Given the description of an element on the screen output the (x, y) to click on. 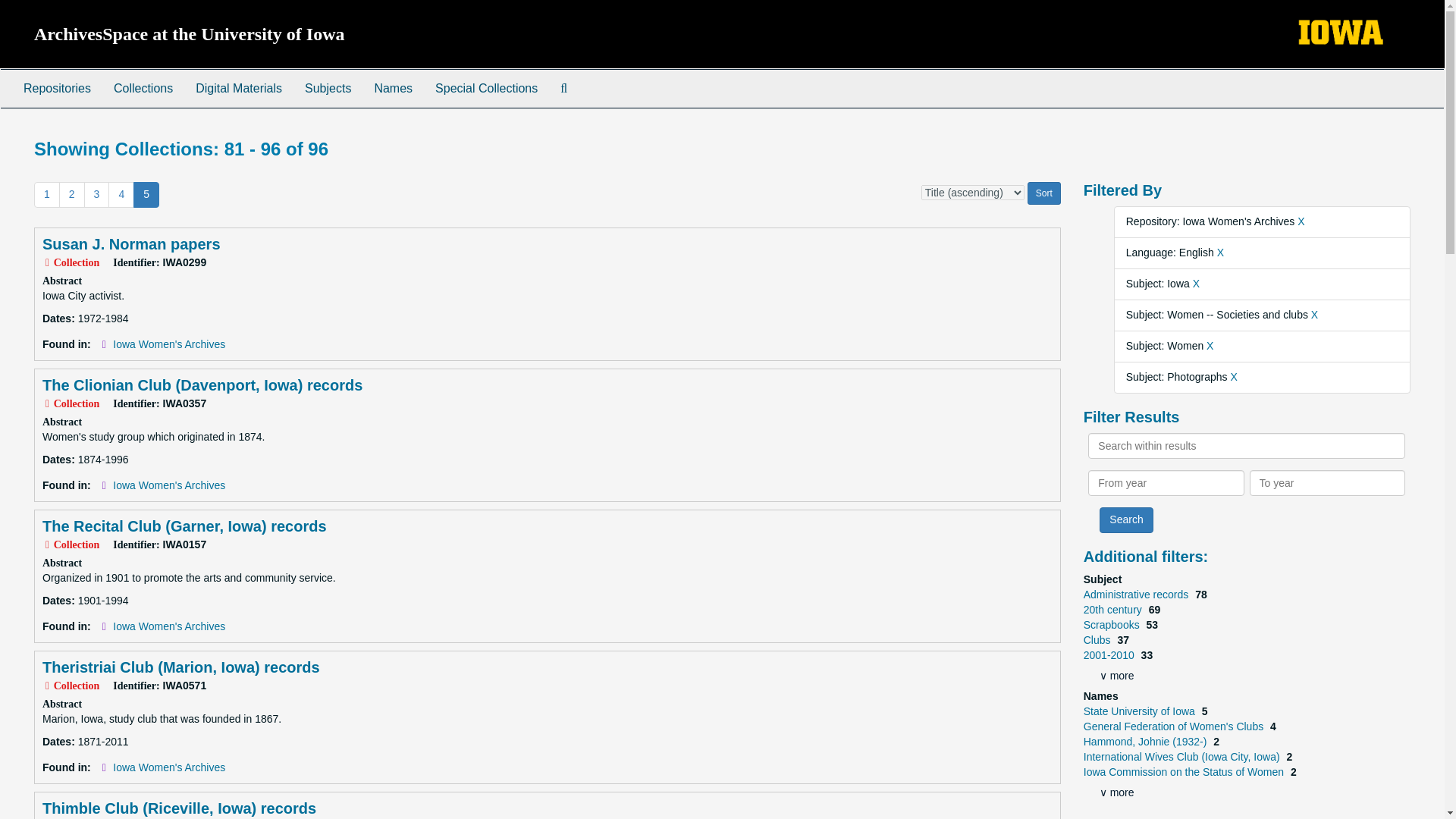
3 (97, 194)
Special Collections (485, 88)
Names (392, 88)
Filter By '20th century' (1113, 609)
Subjects (328, 88)
Search (1126, 519)
Return to the ArchivesSpace homepage (189, 34)
Digital Materials (239, 88)
5 (145, 194)
Collections (142, 88)
ArchivesSpace at the University of Iowa (189, 34)
Iowa Women's Archives (169, 485)
Sort (1044, 192)
Filter By 'Scrapbooks' (1112, 624)
2 (71, 194)
